Given the description of an element on the screen output the (x, y) to click on. 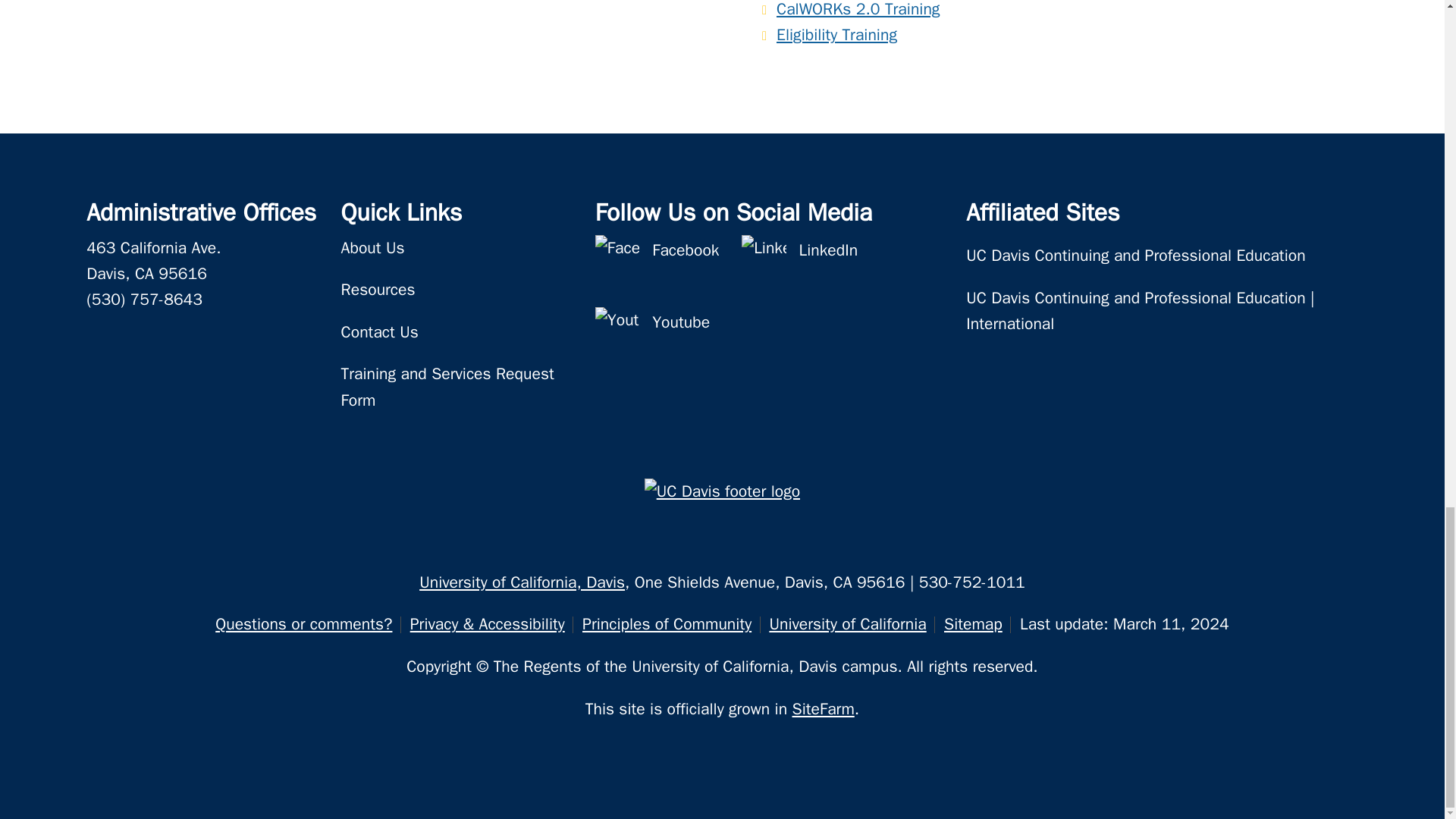
Subscribe to our Youtube channel (617, 329)
Follow us on Facebook (617, 257)
Subscribe to our Youtube channel (681, 329)
Follow us on Facebook (685, 257)
Connect with us on LinkedIn (763, 257)
Connect with us on LinkedIn (829, 257)
